Given the description of an element on the screen output the (x, y) to click on. 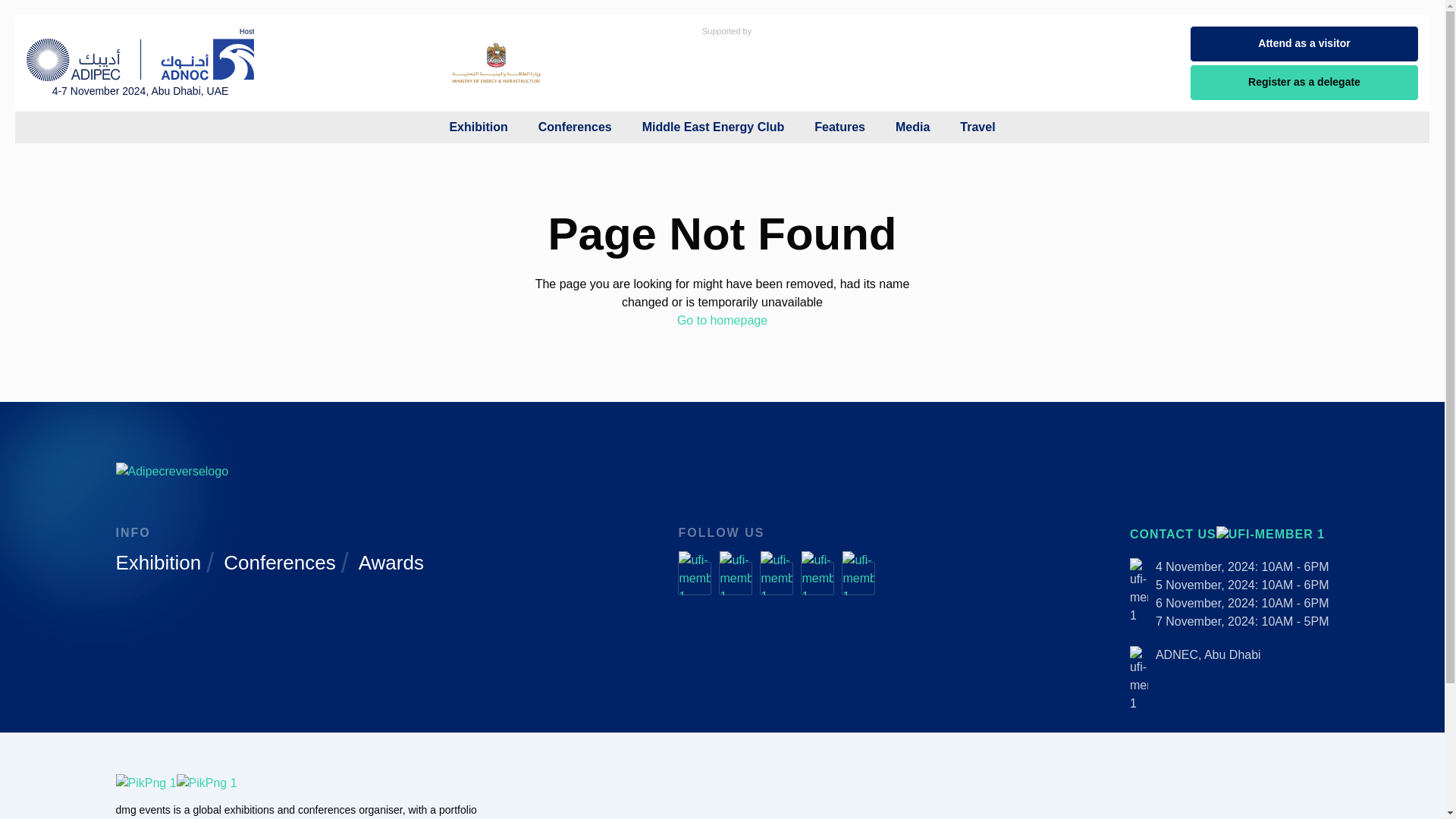
Exhibition (477, 127)
Attend as a visitor (1304, 43)
Conferences (574, 127)
4-7 November 2024, Abu Dhabi, UAE (139, 62)
Register as a delegate (1304, 82)
